Given the description of an element on the screen output the (x, y) to click on. 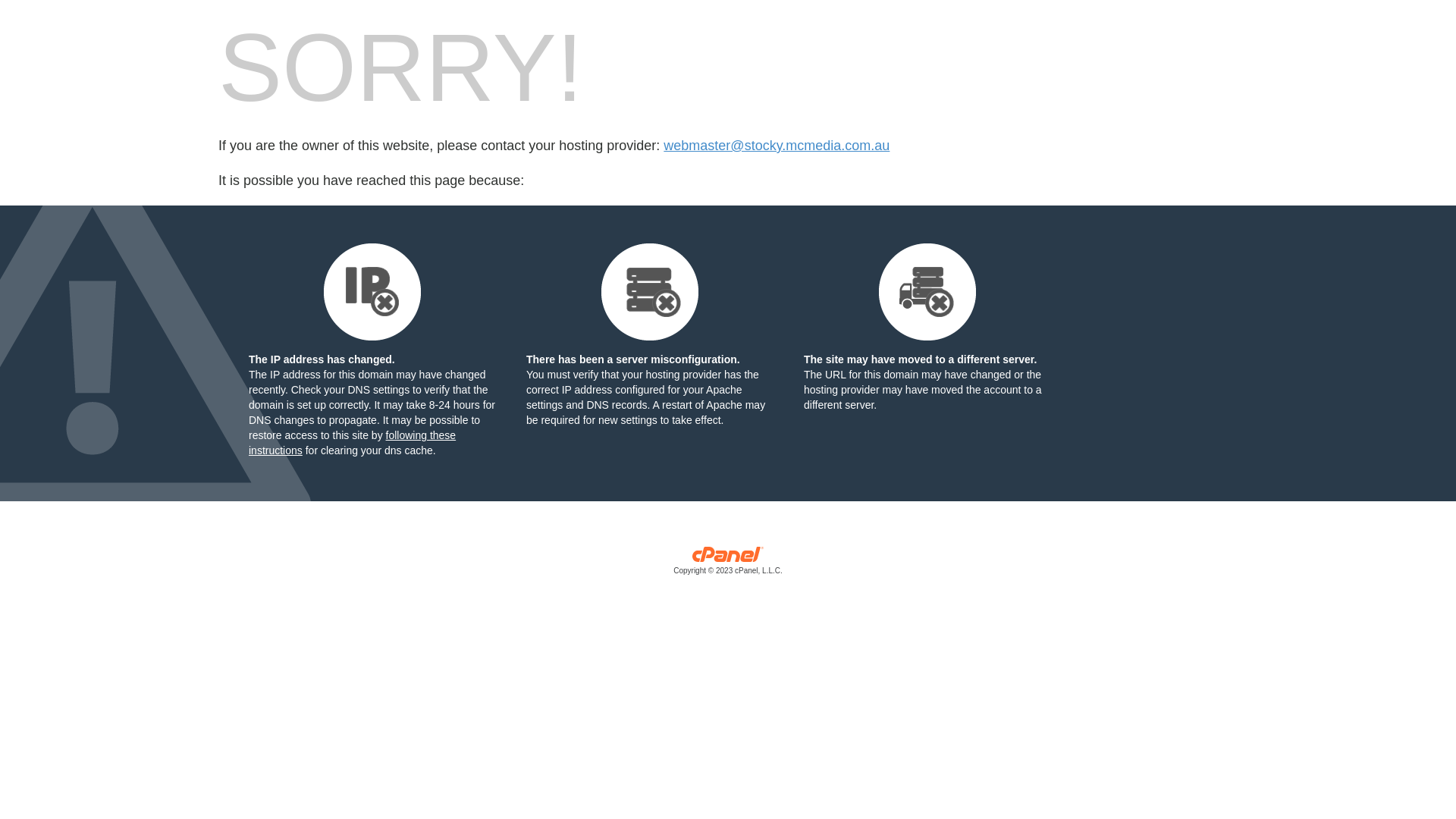
following these instructions Element type: text (351, 442)
webmaster@stocky.mcmedia.com.au Element type: text (776, 145)
